Given the description of an element on the screen output the (x, y) to click on. 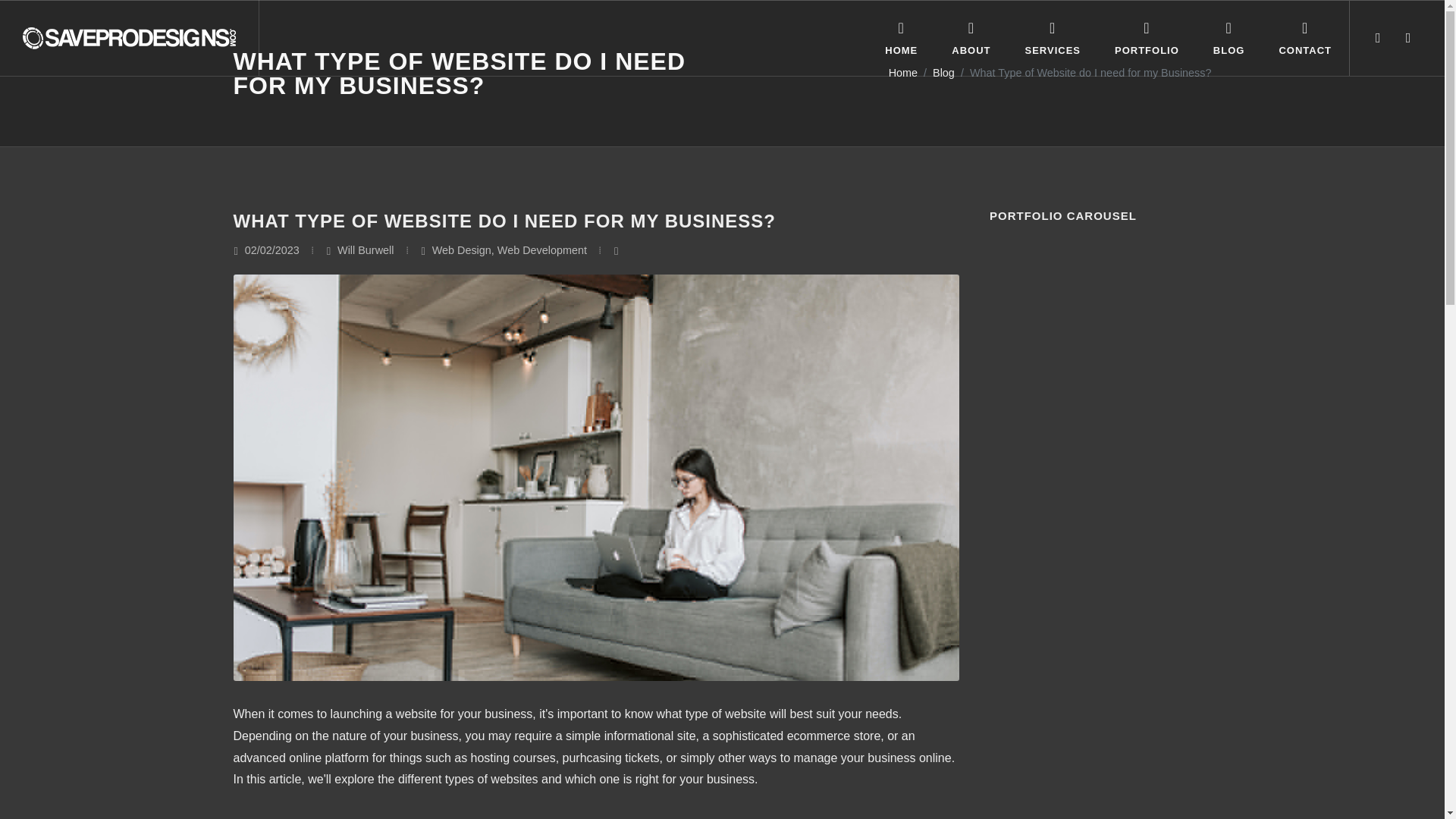
CONTACT (1304, 37)
PORTFOLIO (1147, 37)
Blog (944, 73)
Home (902, 73)
SERVICES (1052, 37)
